Given the description of an element on the screen output the (x, y) to click on. 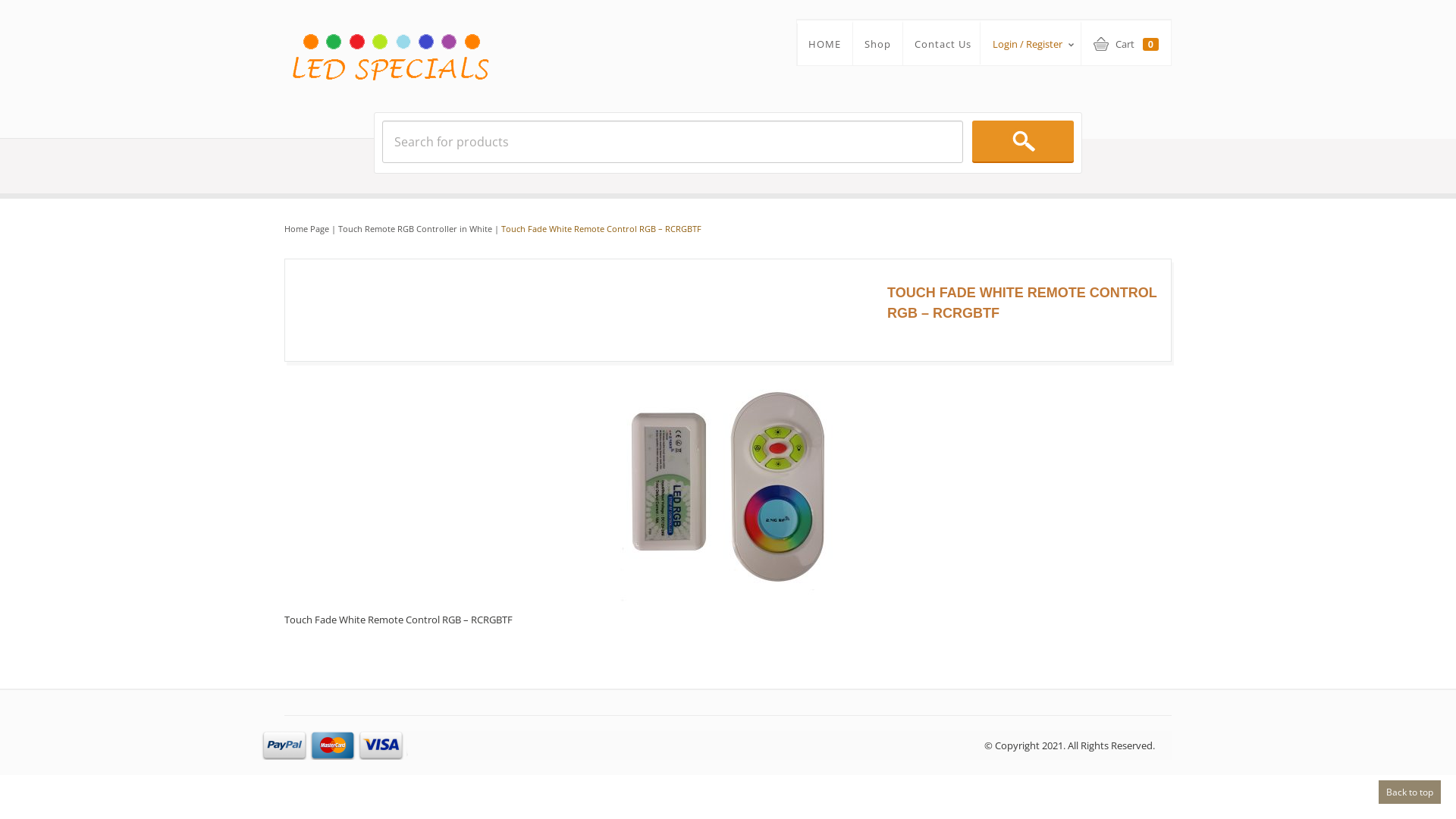
HOME Element type: text (824, 43)
Back to top Element type: text (1409, 791)
LED Specials Element type: hover (389, 42)
Contact Us Element type: text (942, 43)
Touch Remote RGB Controller in White Element type: text (415, 228)
Home Page Element type: text (306, 228)
Shop Element type: text (877, 43)
Cart 0 Element type: text (1125, 45)
Login Element type: text (1099, 171)
LED Specials Element type: hover (389, 55)
Search Element type: text (1022, 140)
